Given the description of an element on the screen output the (x, y) to click on. 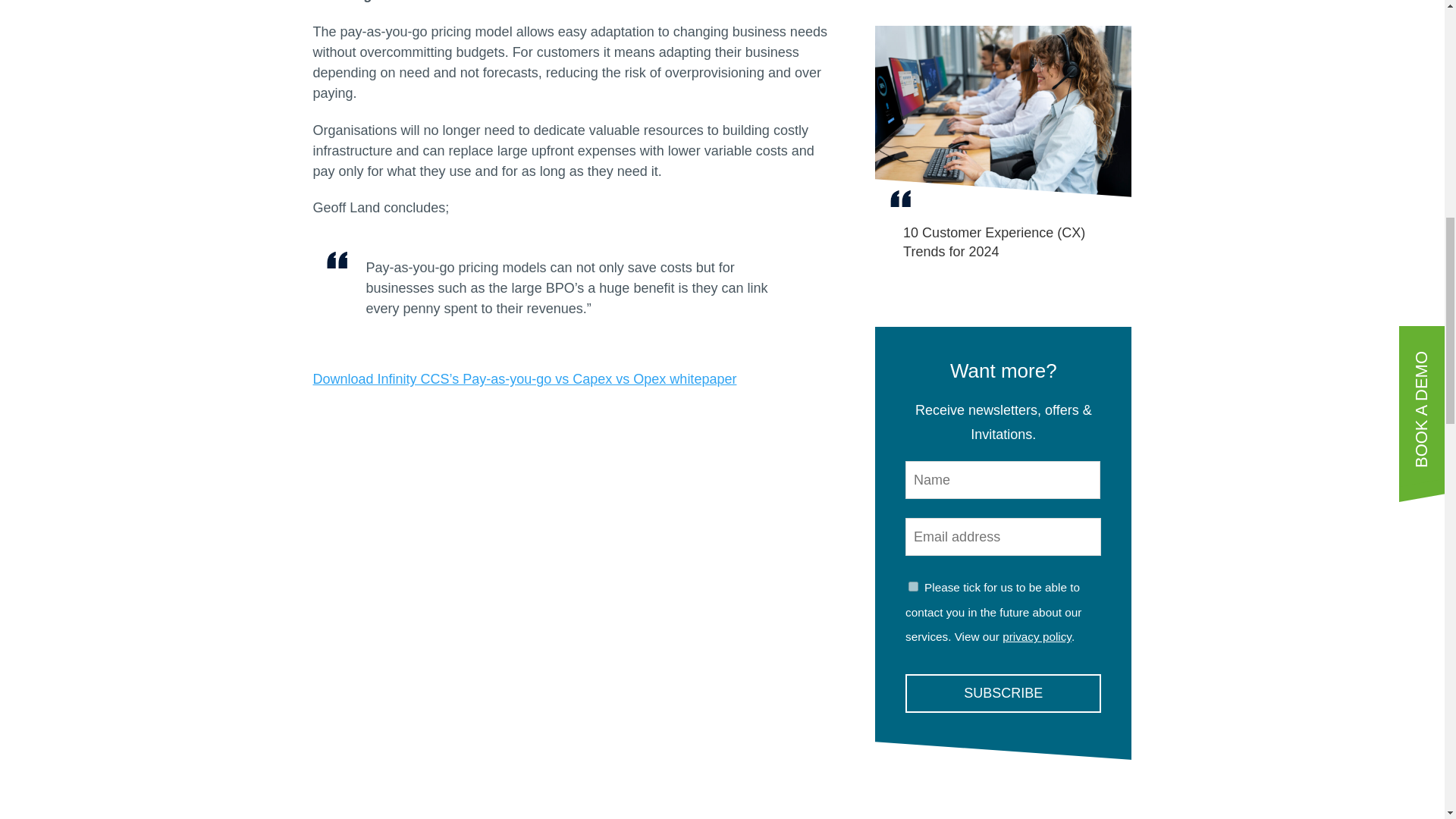
SUBSCRIBE (1002, 692)
1 (913, 586)
